Given the description of an element on the screen output the (x, y) to click on. 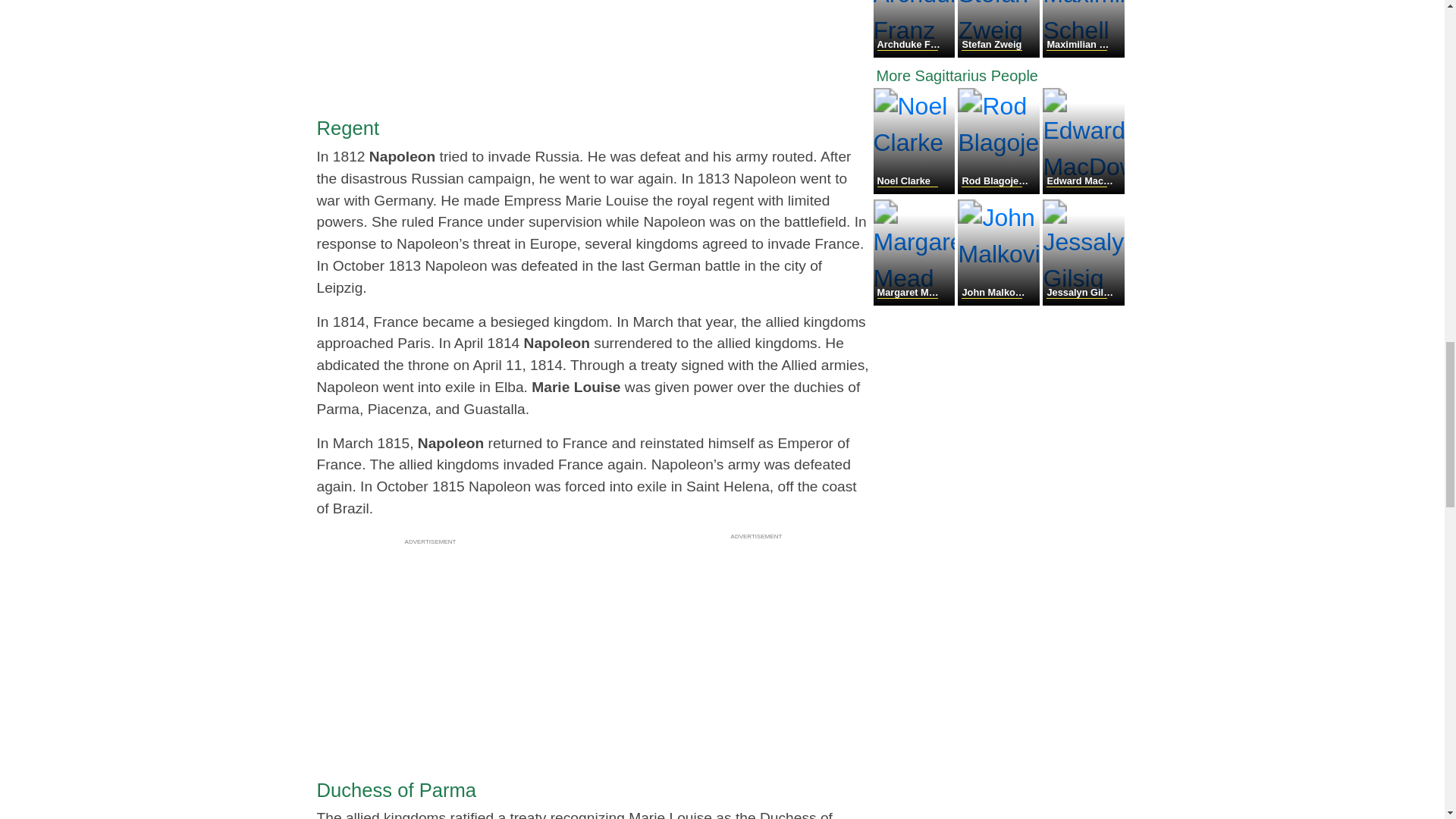
Archduke Franz Ferdinand (915, 52)
Stefan Zweig (1000, 52)
Rod Blagojevich (1000, 189)
Noel Clarke (915, 189)
Edward MacDowell (1083, 189)
Maximilian Schell (1083, 52)
